Given the description of an element on the screen output the (x, y) to click on. 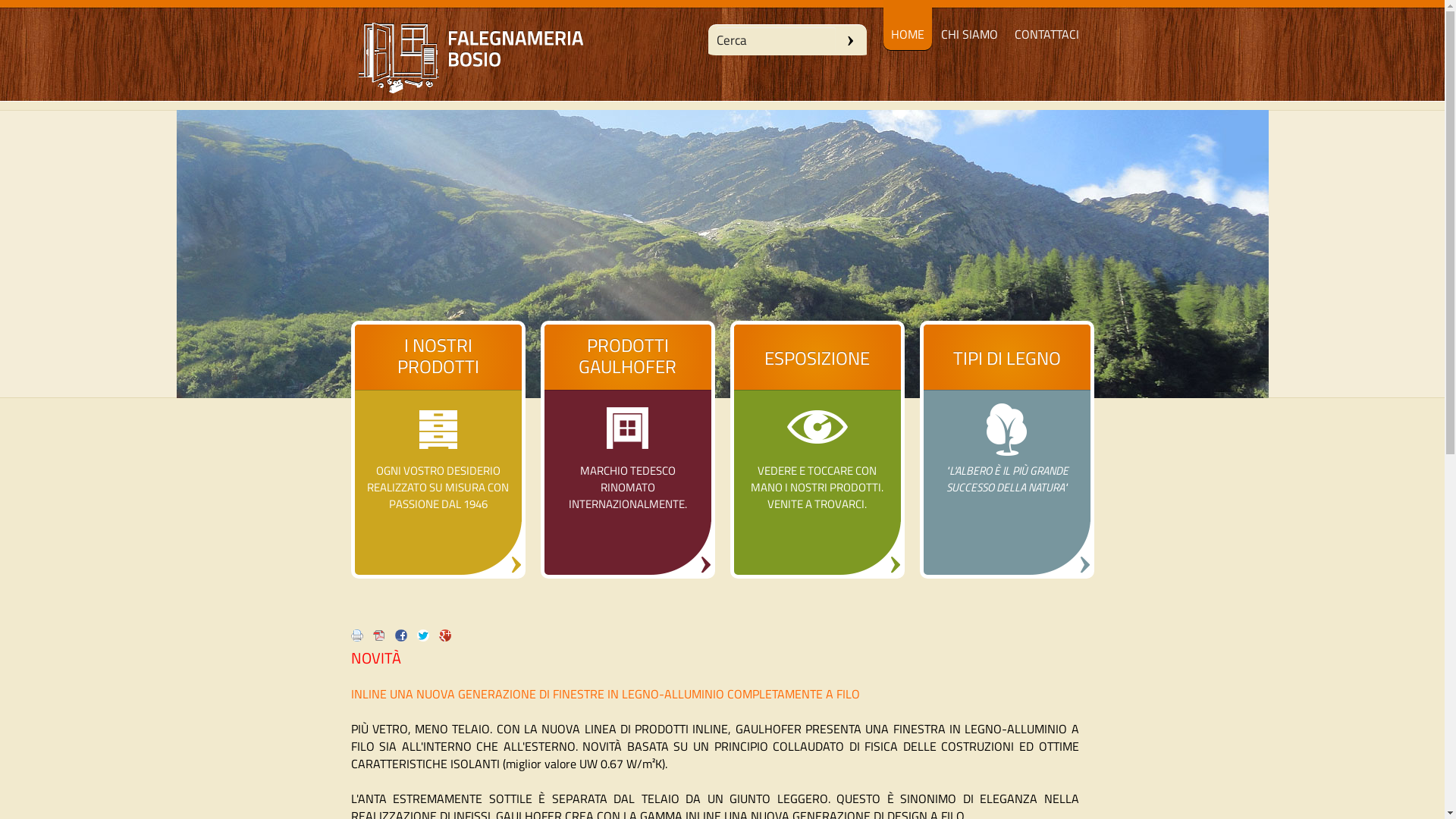
Link Element type: text (627, 449)
Pagina principale Element type: hover (721, 253)
Condividi in Google+ Element type: hover (448, 640)
Salva l'articolo in PDF Element type: hover (382, 640)
Condividi in Twitter Element type: hover (426, 640)
CONTATTACI Element type: text (1046, 25)
CHI SIAMO Element type: text (968, 25)
Link Element type: text (1006, 449)
Link Element type: text (817, 449)
Condividi in Facebook Element type: hover (404, 640)
Stampa la pagina Element type: hover (360, 640)
